Given the description of an element on the screen output the (x, y) to click on. 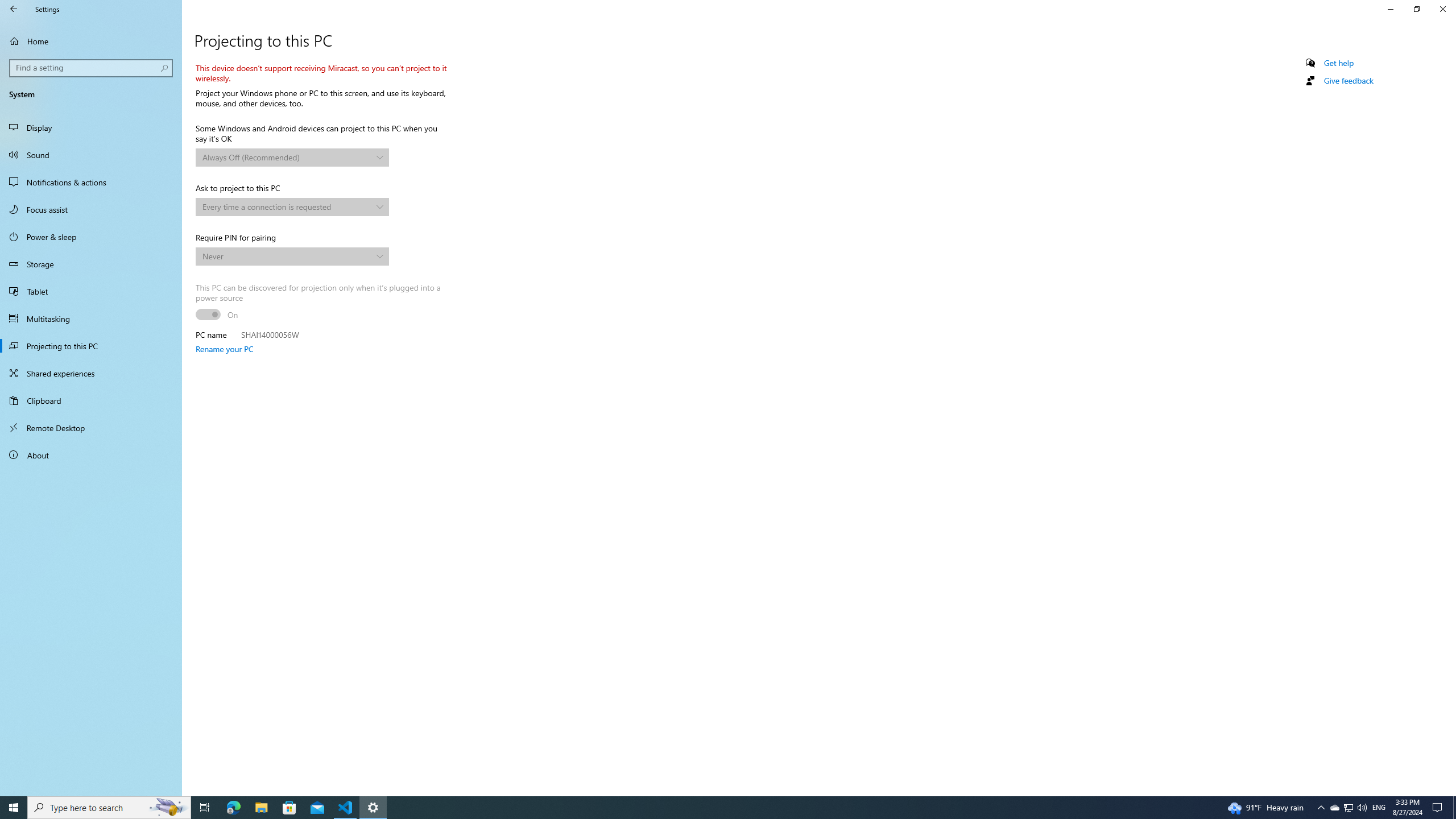
About (91, 454)
Ask to project to this PC (291, 207)
Display (91, 126)
Never (286, 255)
Always Off (Recommended) (286, 156)
Clipboard (91, 400)
Power & sleep (91, 236)
Notifications & actions (91, 181)
